Given the description of an element on the screen output the (x, y) to click on. 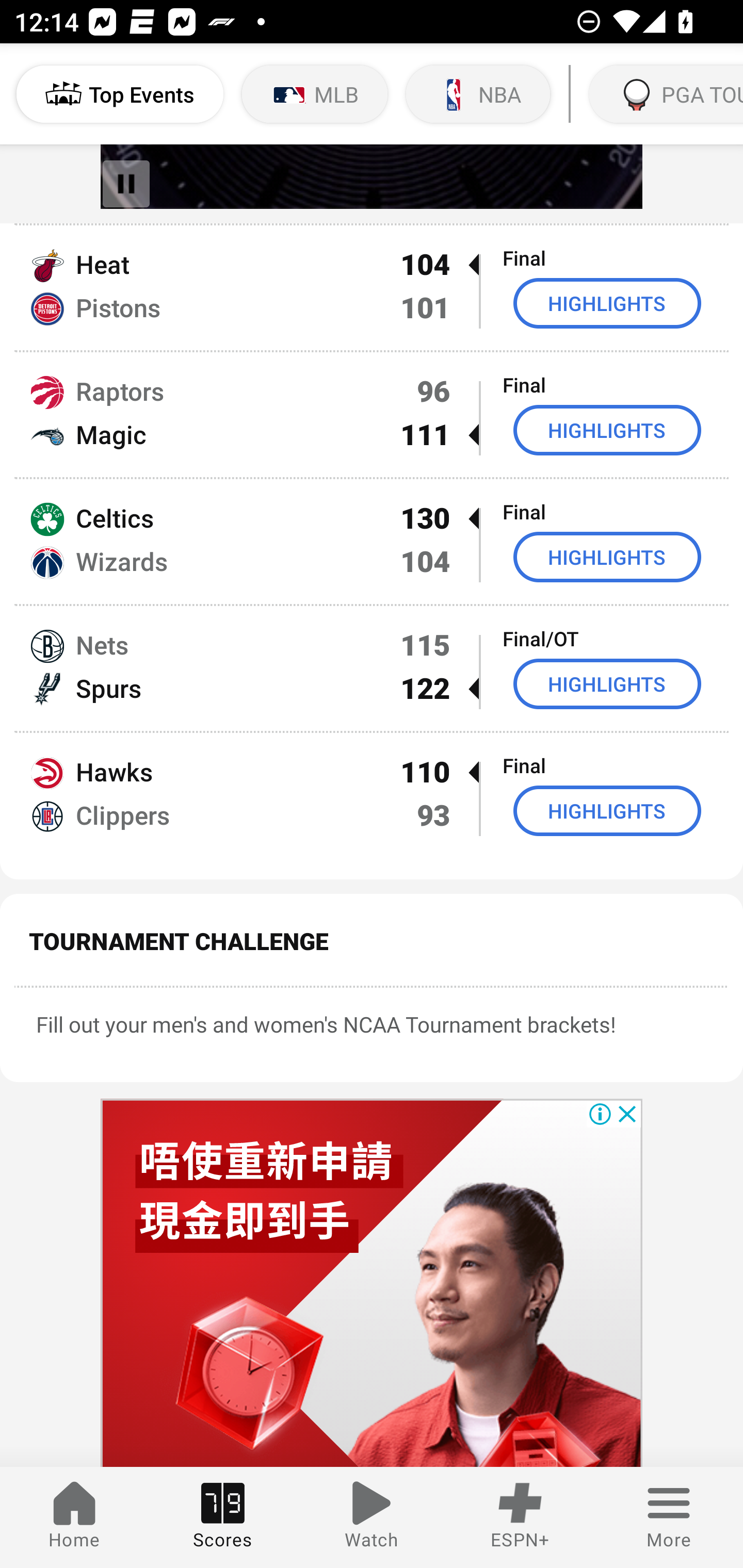
 Top Events (119, 93)
MLB (314, 93)
NBA (477, 93)
PGA TOUR (664, 93)
Heat 104  Final Pistons 101 HIGHLIGHTS (371, 287)
HIGHLIGHTS (607, 303)
Raptors 96 Final Magic 111  HIGHLIGHTS (371, 414)
HIGHLIGHTS (607, 429)
Celtics 130  Final Wizards 104 HIGHLIGHTS (371, 541)
HIGHLIGHTS (607, 556)
Nets 115 Final/OT Spurs 122  HIGHLIGHTS (371, 668)
HIGHLIGHTS (607, 683)
Hawks 110  Final Clippers 93 HIGHLIGHTS (371, 805)
HIGHLIGHTS (607, 810)
TOURNAMENT CHALLENGE (371, 940)
300x250 (371, 1283)
Home (74, 1517)
Watch (371, 1517)
ESPN+ (519, 1517)
More (668, 1517)
